Given the description of an element on the screen output the (x, y) to click on. 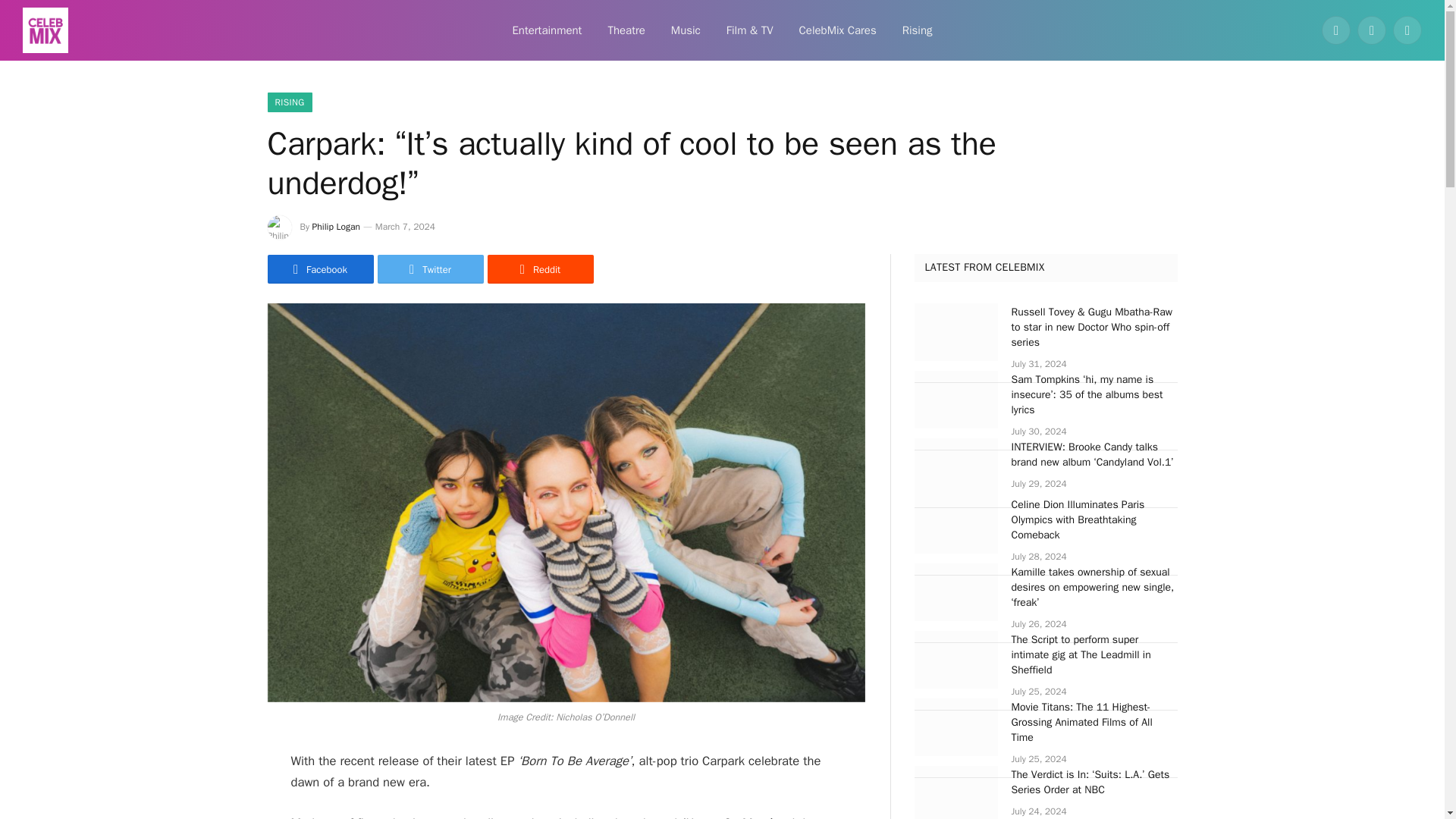
Share on Reddit (539, 268)
Music (685, 30)
Instagram (1407, 30)
Theatre (626, 30)
Entertainment (546, 30)
CelebMix Cares (837, 30)
Share on Facebook (319, 268)
Posts by Philip Logan (336, 226)
Twitter (430, 268)
Facebook (319, 268)
Reddit (539, 268)
Philip Logan (336, 226)
RISING (288, 102)
Rising (916, 30)
Facebook (1336, 30)
